Given the description of an element on the screen output the (x, y) to click on. 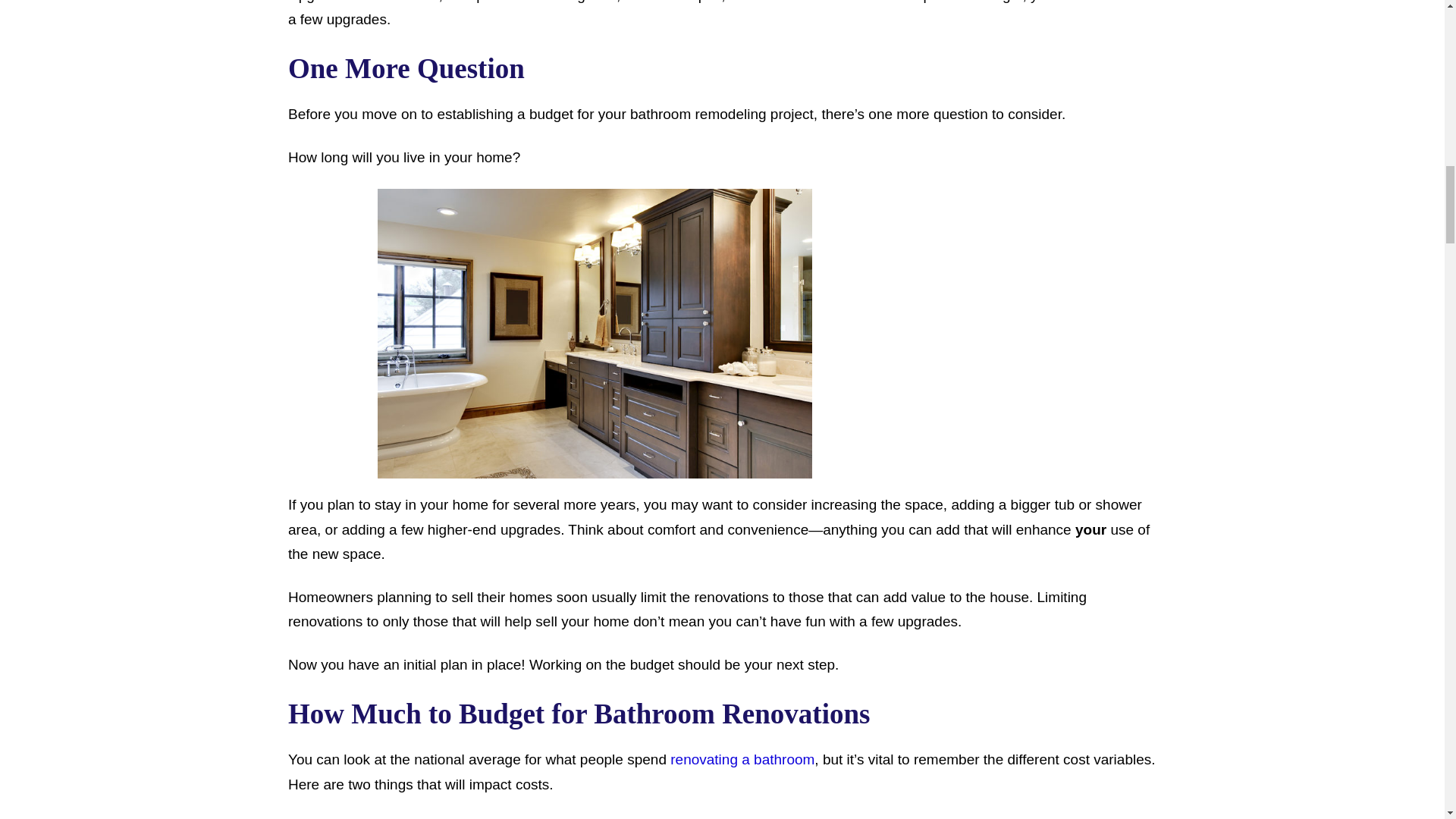
Remodel Bathroom Cabinets (594, 333)
